Given the description of an element on the screen output the (x, y) to click on. 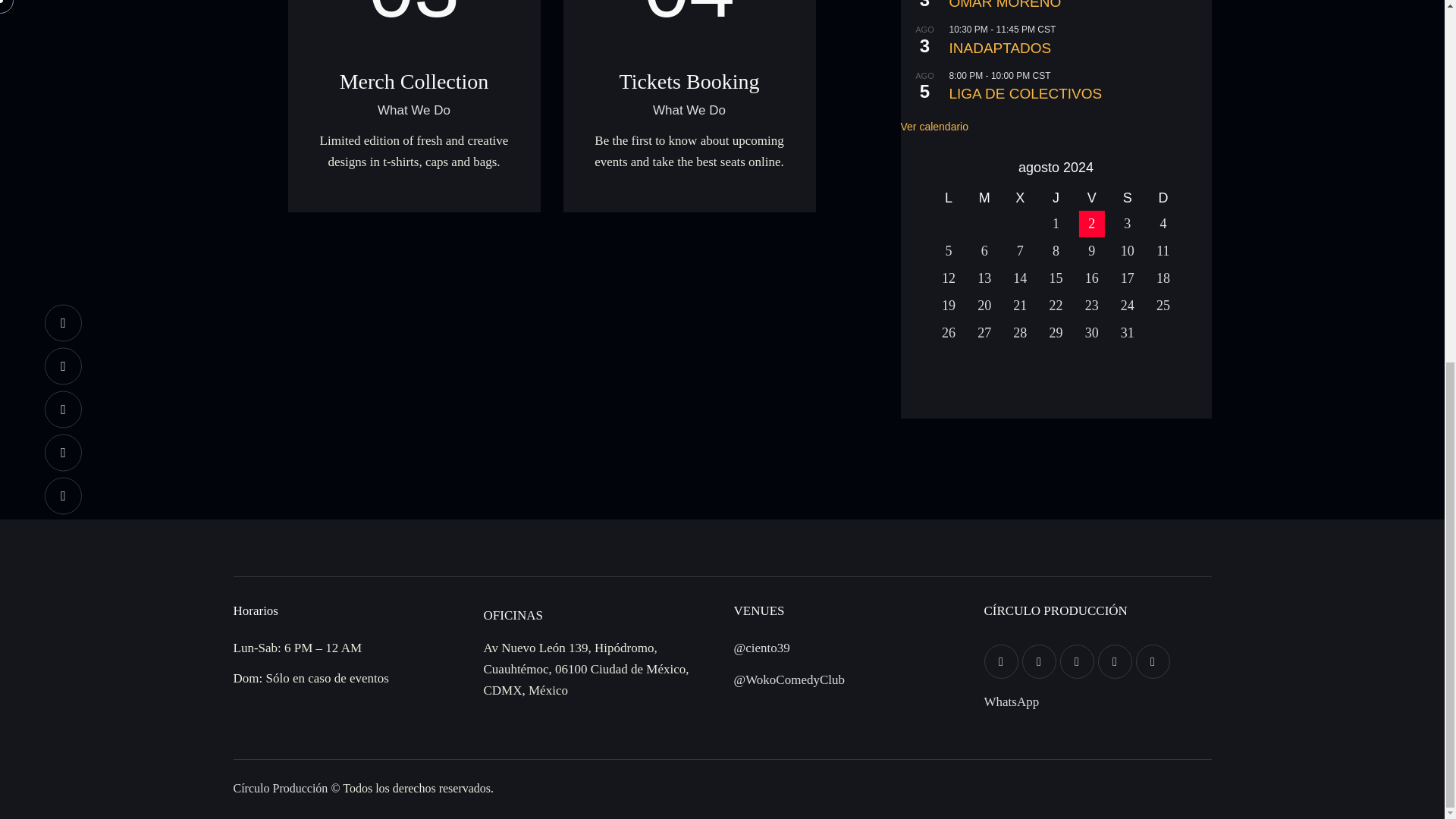
Merch Collection (414, 81)
View all posts in What We Do (413, 110)
INADAPTADOS (1080, 48)
What We Do (413, 110)
OMAR MORENO (1080, 5)
LIGA DE COLECTIVOS (1080, 94)
View all posts in What We Do (688, 110)
